Given the description of an element on the screen output the (x, y) to click on. 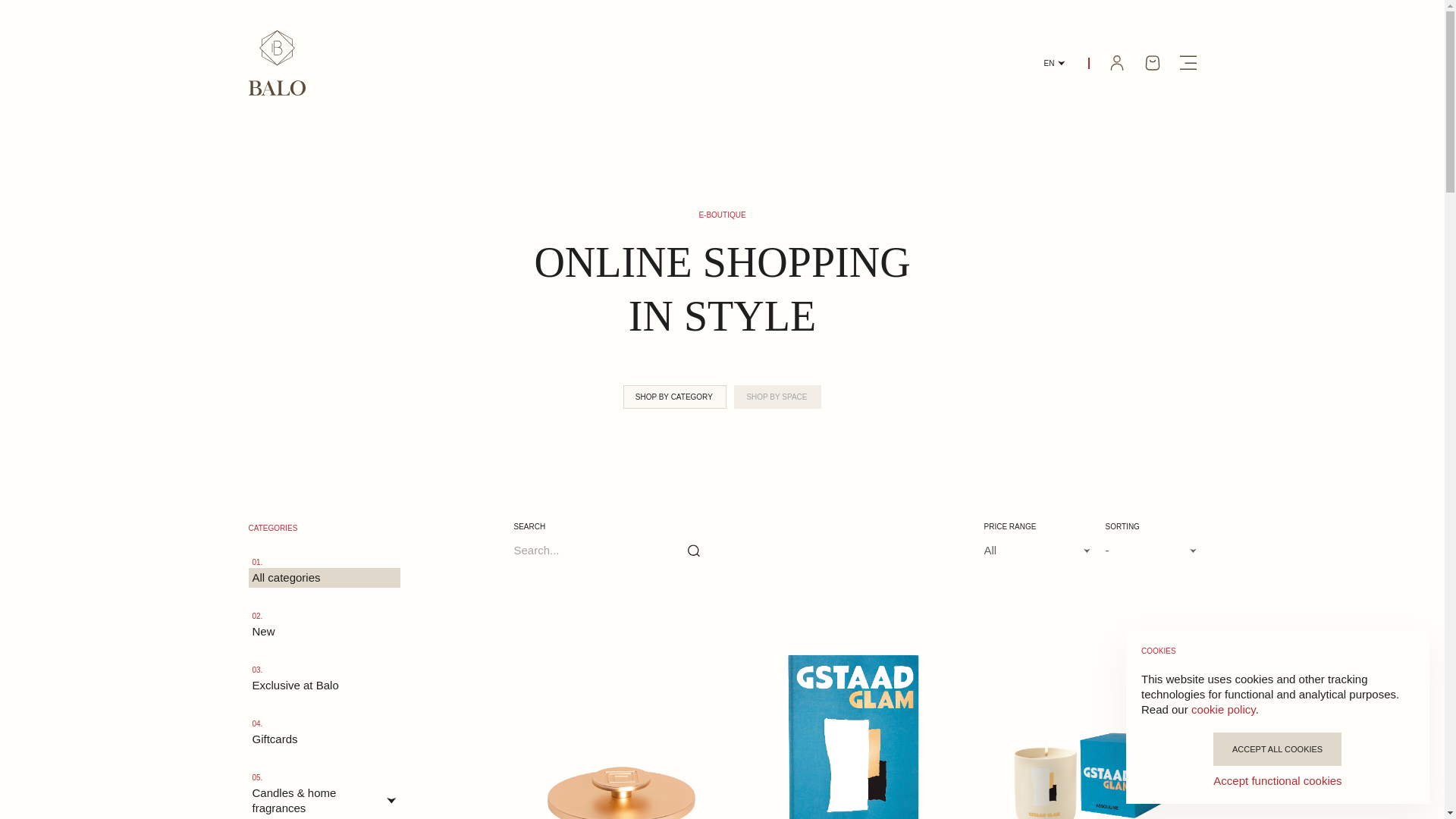
EN (1054, 62)
ACCEPT ALL COOKIES (1276, 748)
cookie policy (1223, 708)
